Given the description of an element on the screen output the (x, y) to click on. 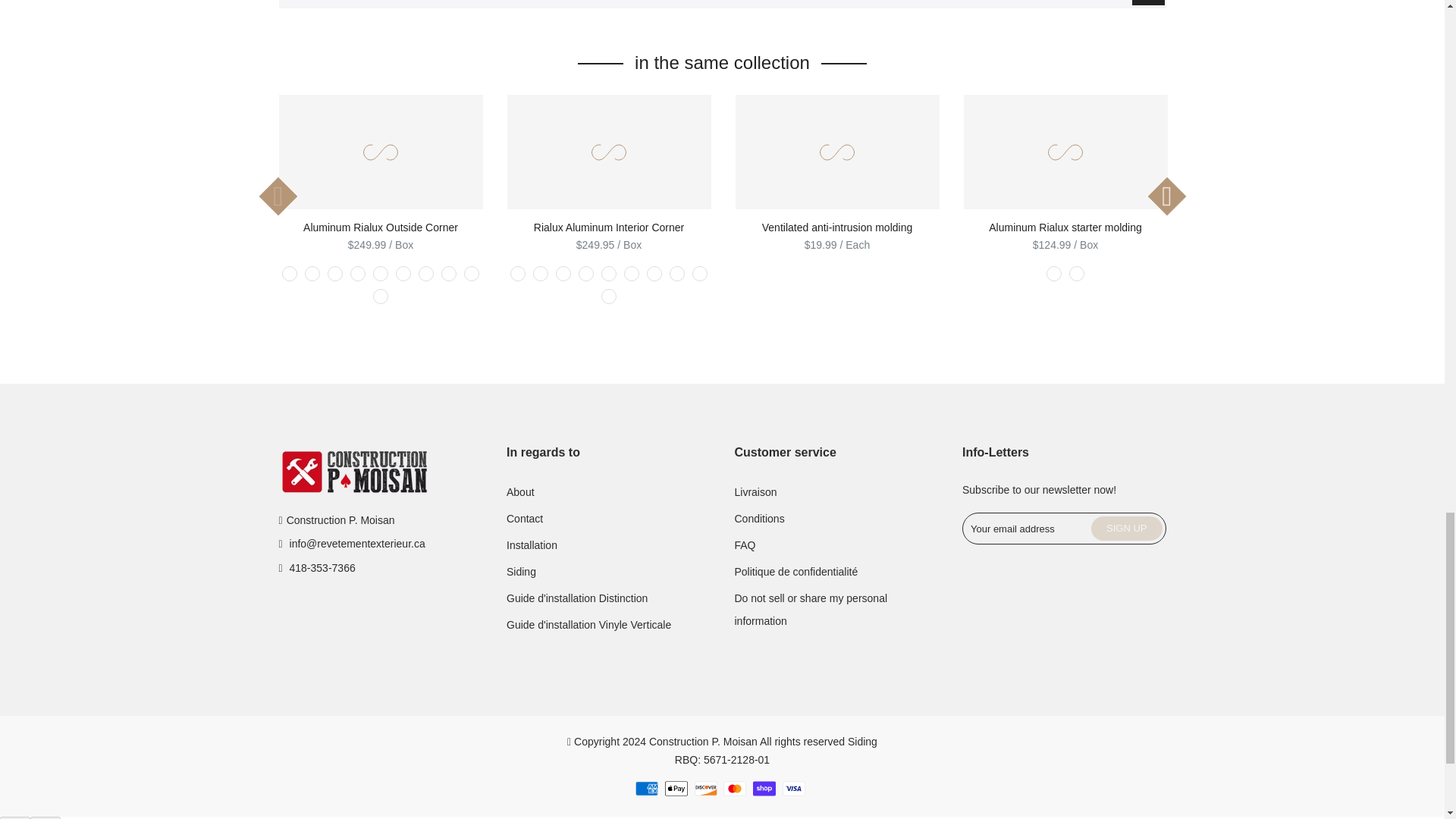
Shop Pay (764, 788)
Sign up (1125, 528)
Apple Pay (676, 788)
American Express (646, 788)
Mastercard (734, 788)
Visa (794, 788)
Discover (705, 788)
